Given the description of an element on the screen output the (x, y) to click on. 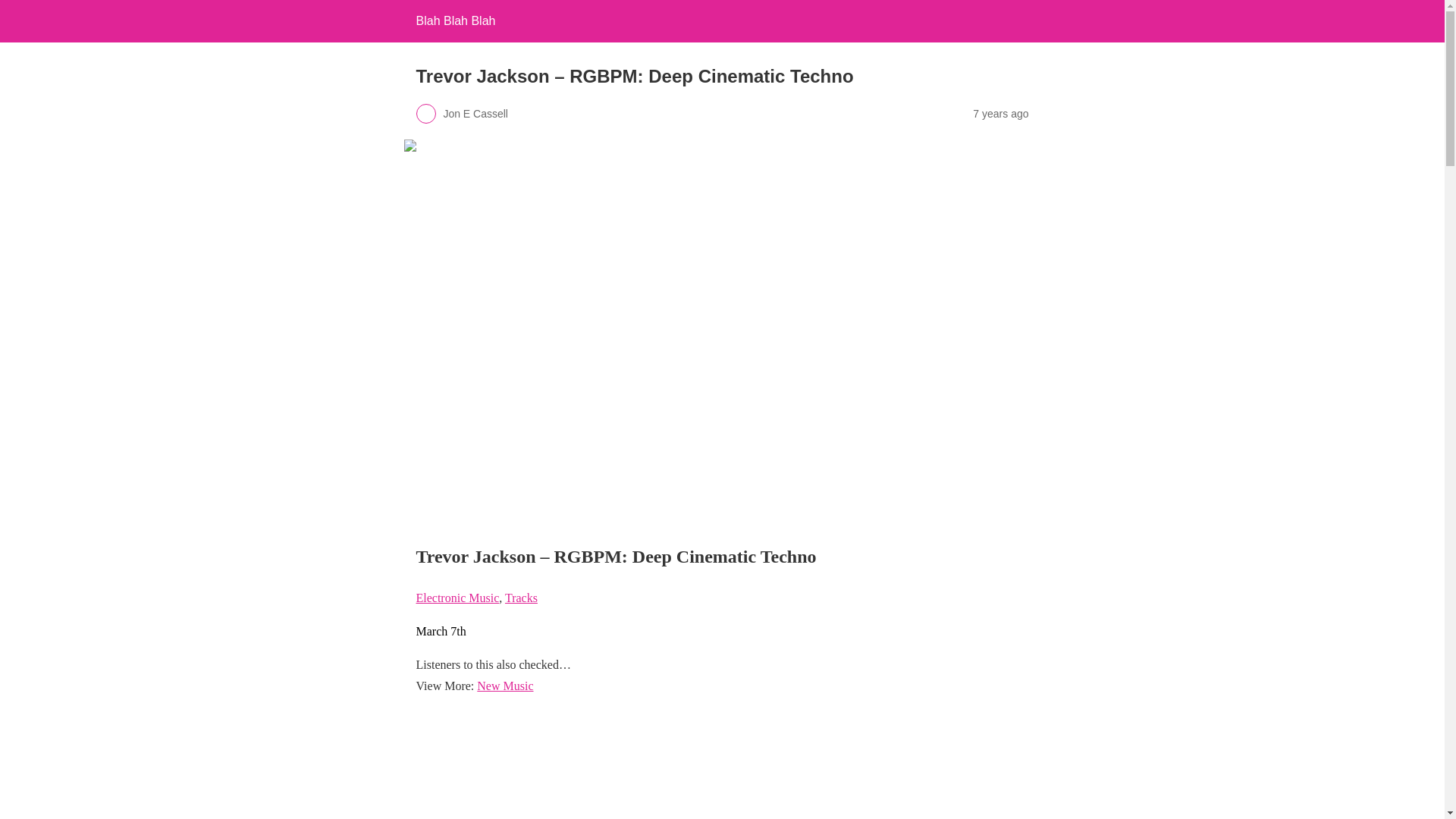
Tracks (521, 597)
Blah Blah Blah (454, 20)
New Music (504, 685)
Electronic Music (456, 597)
